Given the description of an element on the screen output the (x, y) to click on. 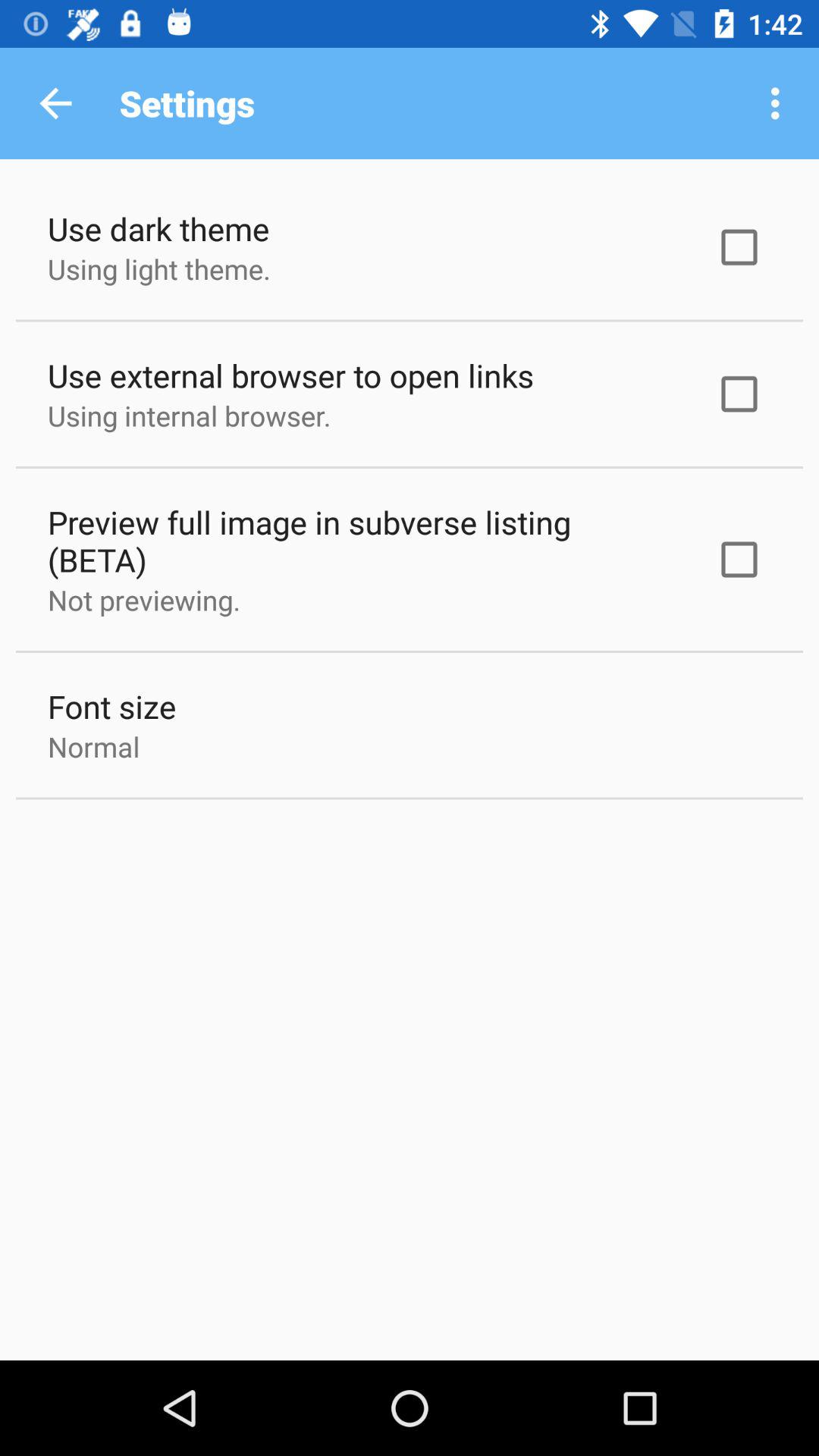
choose the icon below using internal browser. (361, 540)
